Given the description of an element on the screen output the (x, y) to click on. 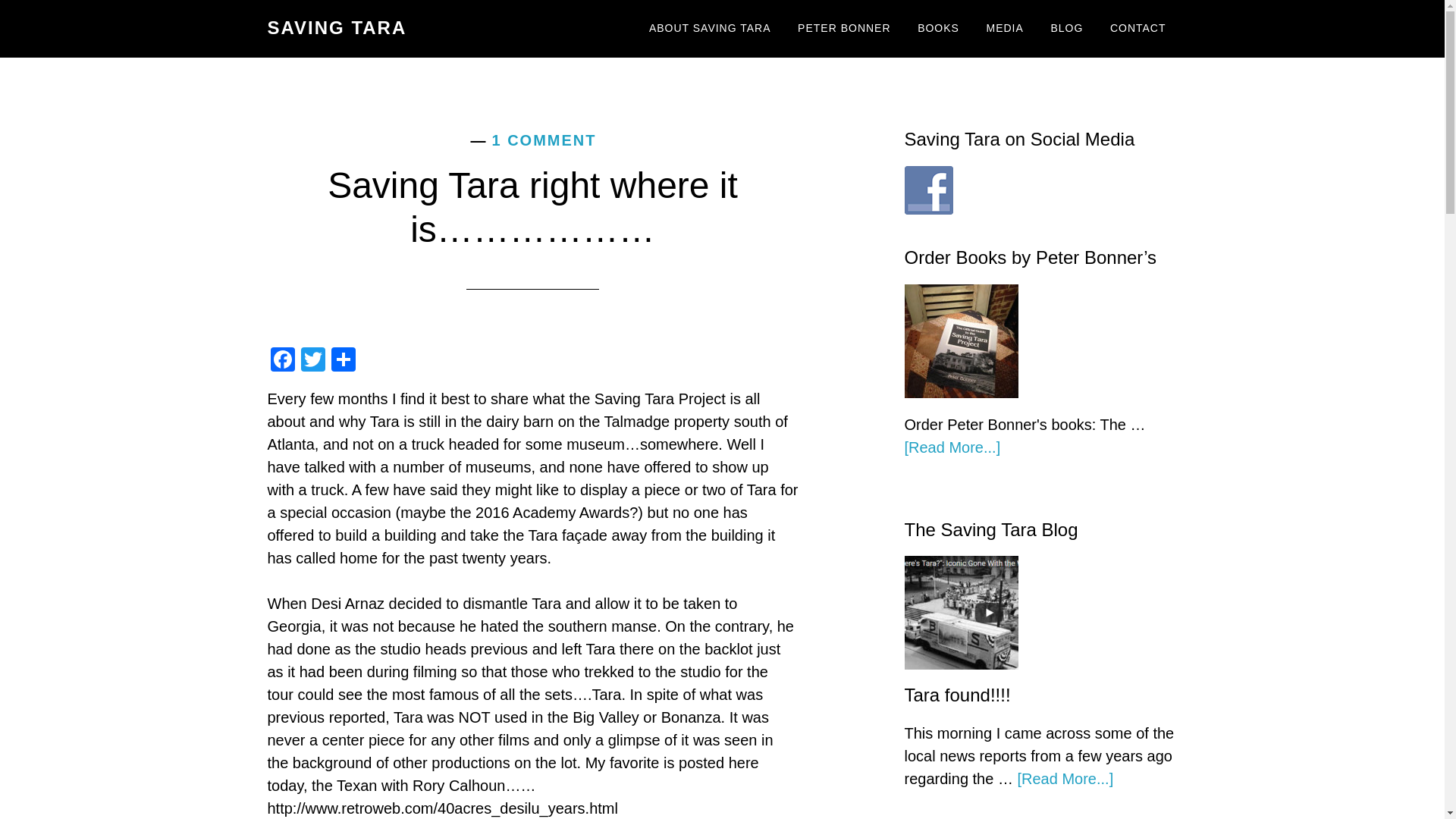
Facebook (281, 361)
1 COMMENT (543, 139)
ABOUT SAVING TARA (710, 28)
SAVING TARA (336, 27)
Twitter (312, 361)
Follow Us on Facebook (928, 190)
Facebook (281, 361)
Tara found!!!! (957, 694)
BOOKS (938, 28)
CONTACT (1138, 28)
PETER BONNER (843, 28)
MEDIA (1005, 28)
Twitter (312, 361)
Share (342, 361)
BLOG (1066, 28)
